Given the description of an element on the screen output the (x, y) to click on. 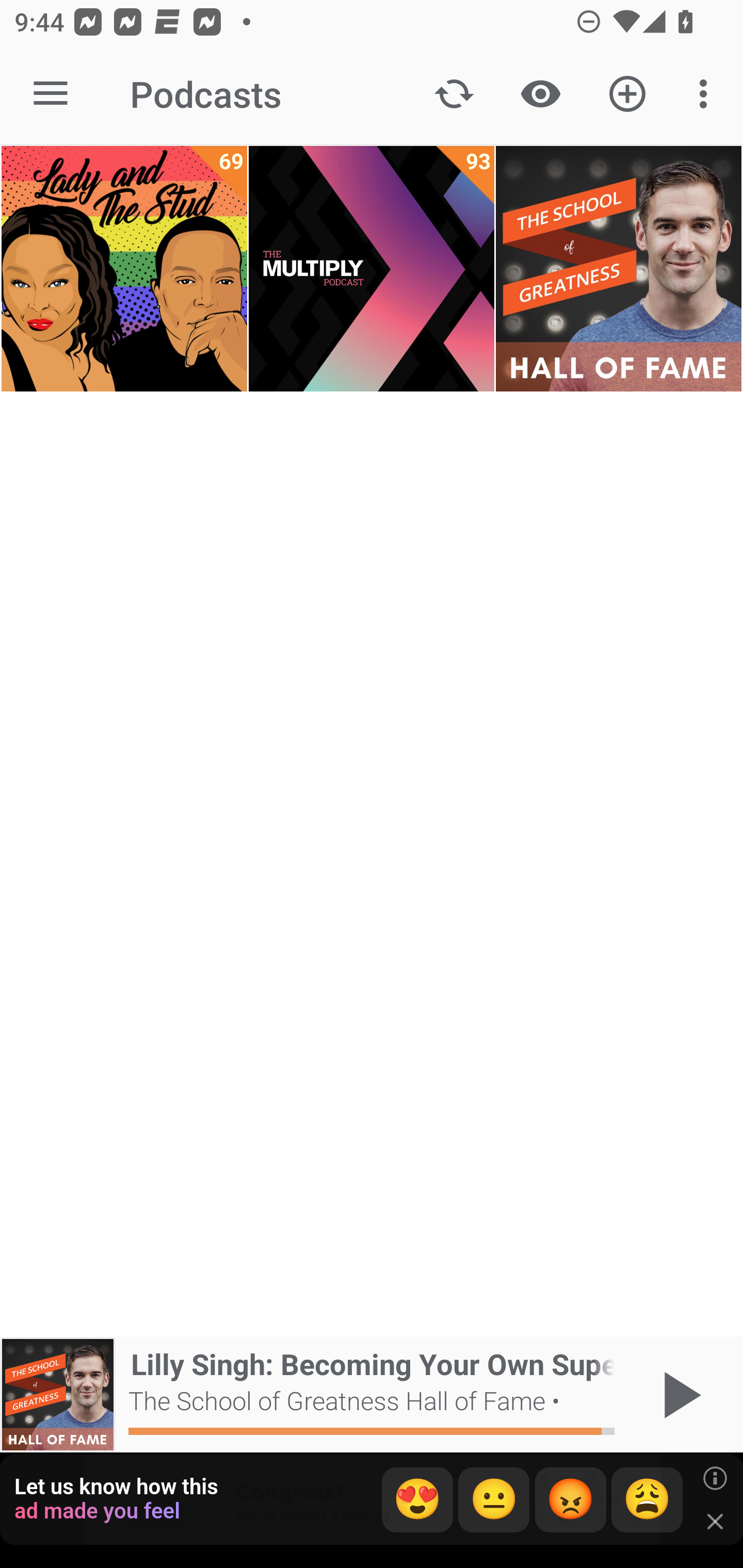
Open navigation sidebar (50, 93)
Update (453, 93)
Show / Hide played content (540, 93)
Add new Podcast (626, 93)
More options (706, 93)
Lady and The Stud 69 (124, 268)
The Multiply Podcast 93 (371, 268)
The School of Greatness Hall of Fame (618, 268)
Play / Pause (677, 1394)
app-monetization (371, 1500)
😍 (416, 1499)
😐 (493, 1499)
😡 (570, 1499)
😩 (647, 1499)
